Given the description of an element on the screen output the (x, y) to click on. 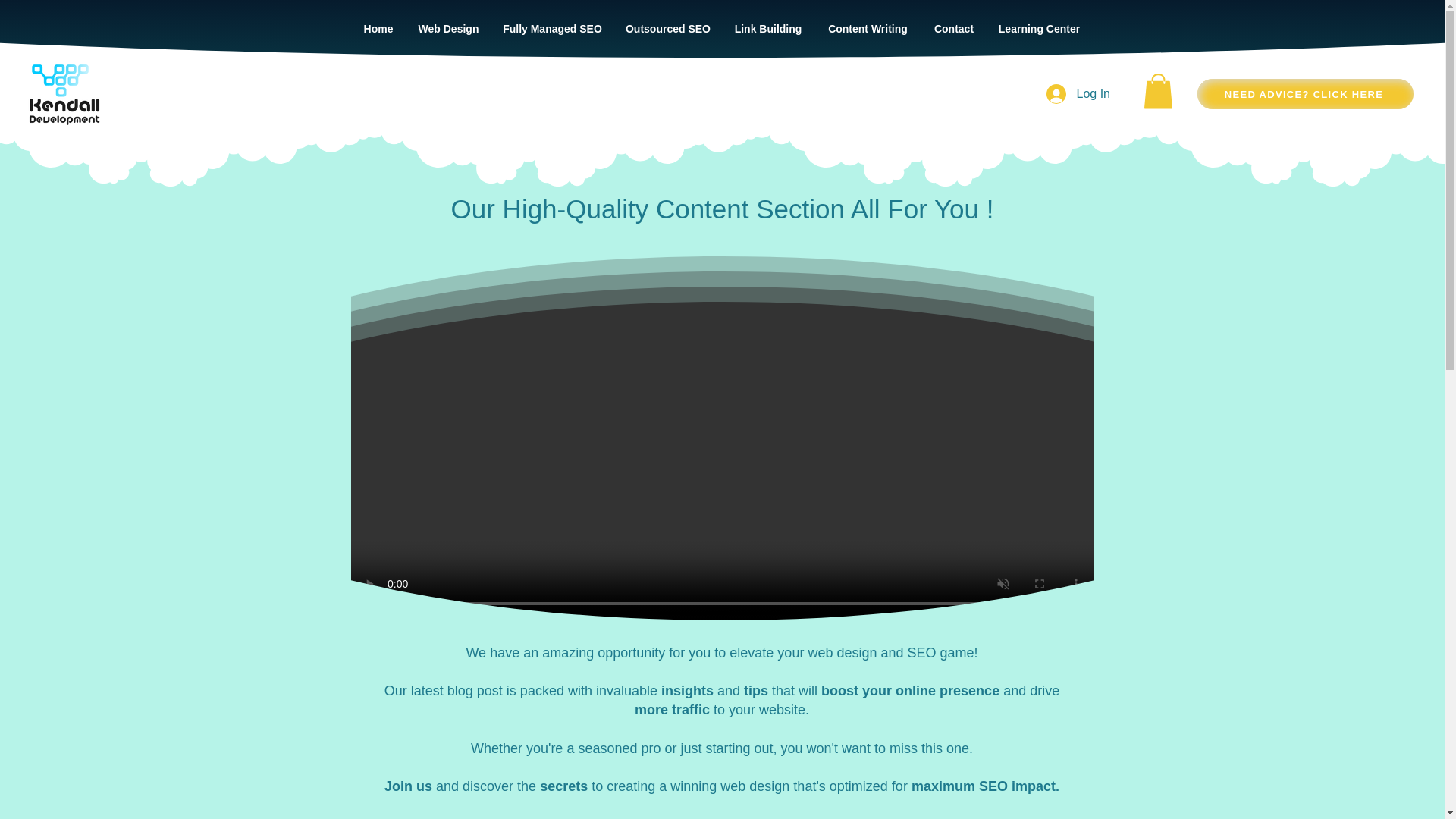
Log In (1078, 93)
Link Building (767, 28)
Home (378, 28)
Content Writing (867, 28)
Learning Center (1038, 28)
NEED ADVICE? CLICK HERE (1304, 93)
Fully Managed SEO (553, 28)
Web Design (449, 28)
Outsourced SEO (668, 28)
Contact (954, 28)
